Given the description of an element on the screen output the (x, y) to click on. 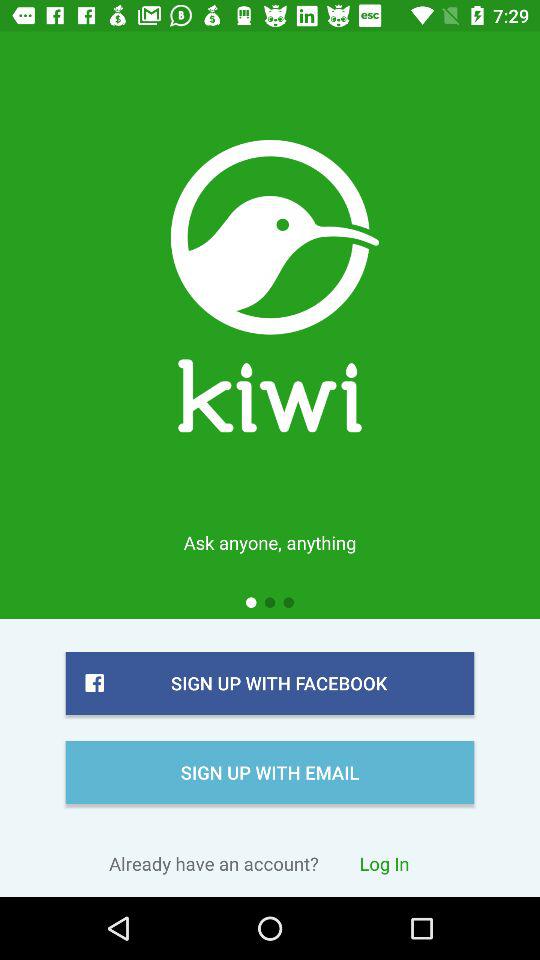
open item below the sign up with icon (384, 863)
